Given the description of an element on the screen output the (x, y) to click on. 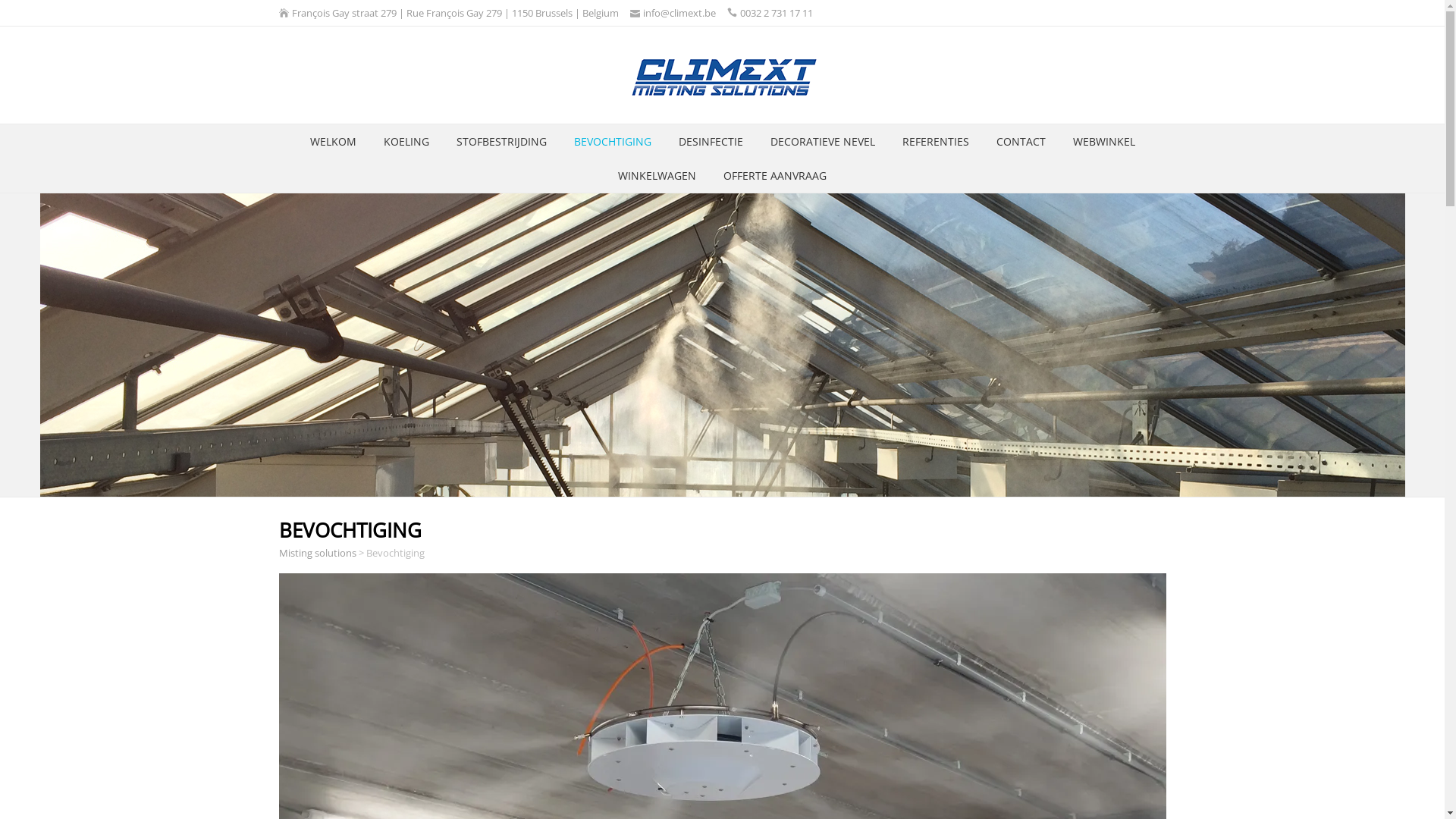
DESINFECTIE Element type: text (709, 141)
OFFERTE AANVRAAG Element type: text (774, 175)
STOFBESTRIJDING Element type: text (501, 141)
CONTACT Element type: text (1020, 141)
DECORATIEVE NEVEL Element type: text (822, 141)
WINKELWAGEN Element type: text (656, 175)
KOELING Element type: text (406, 141)
Misting solutions Element type: text (317, 552)
BEVOCHTIGING Element type: text (611, 141)
WELKOM Element type: text (332, 141)
WEBWINKEL Element type: text (1103, 141)
REFERENTIES Element type: text (935, 141)
